Given the description of an element on the screen output the (x, y) to click on. 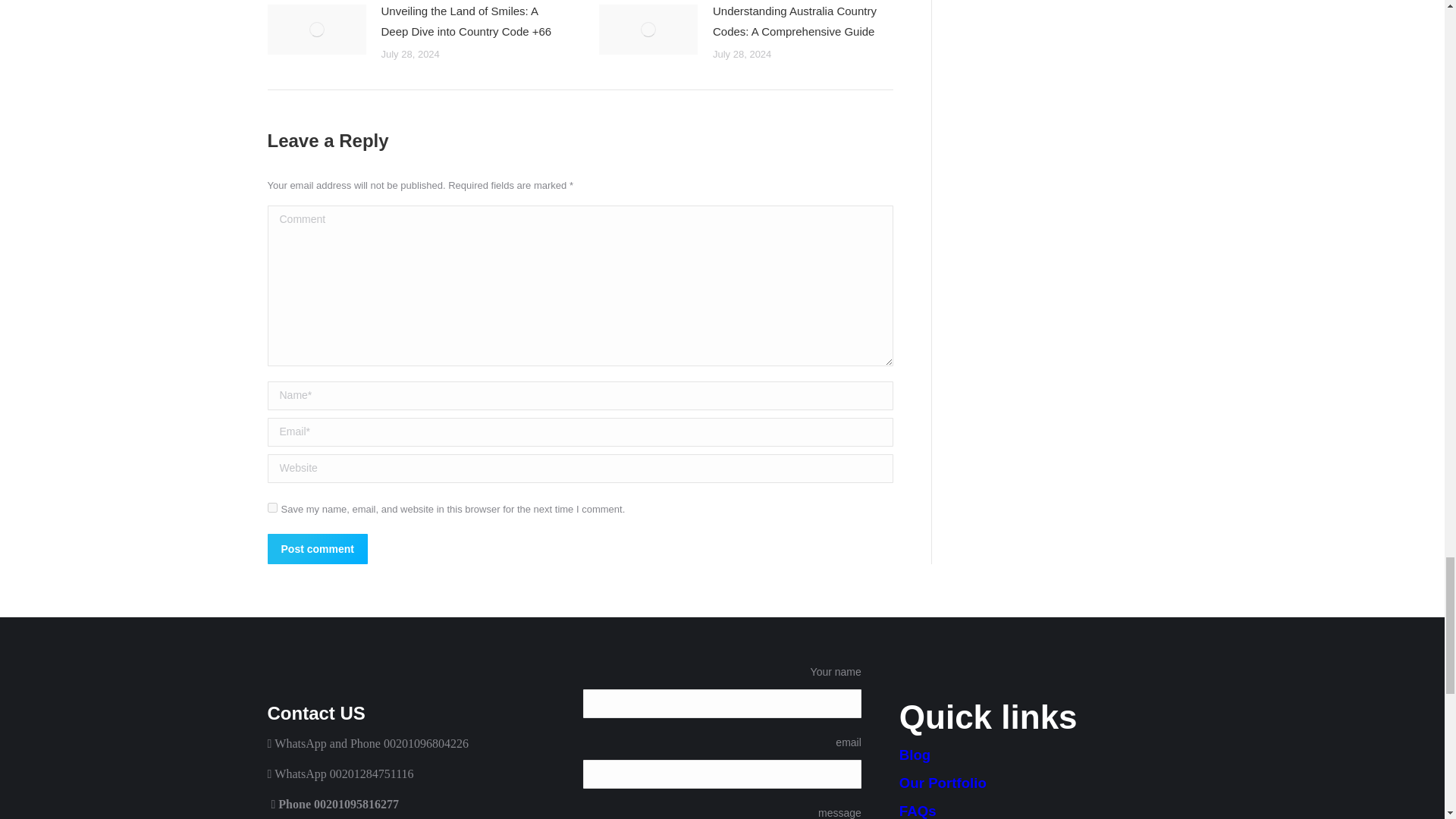
yes (271, 507)
